Given the description of an element on the screen output the (x, y) to click on. 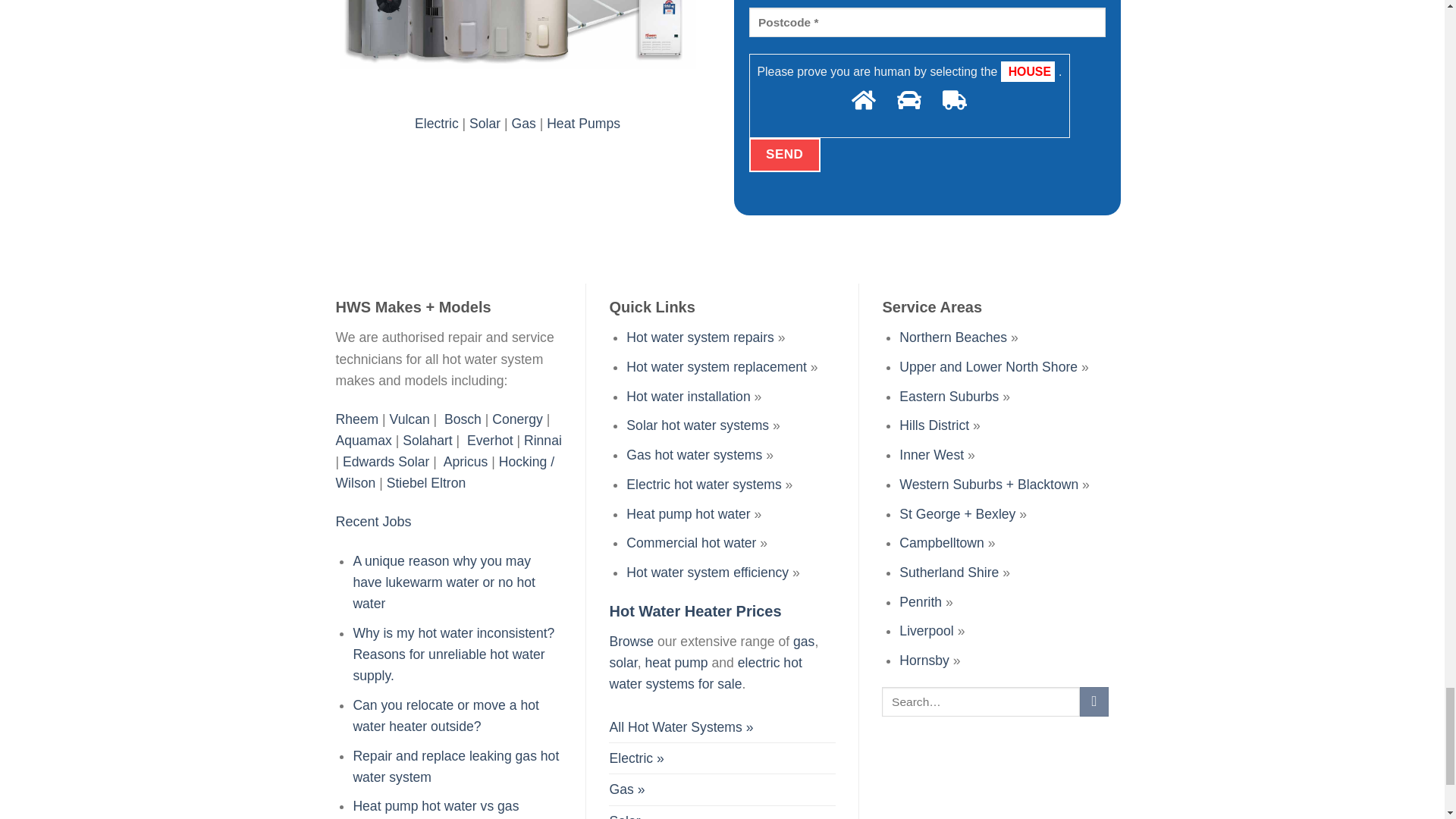
buy solar hot water system (629, 812)
Send (785, 154)
buy gas hot water system (626, 788)
buy electric hot water system (635, 757)
